Given the description of an element on the screen output the (x, y) to click on. 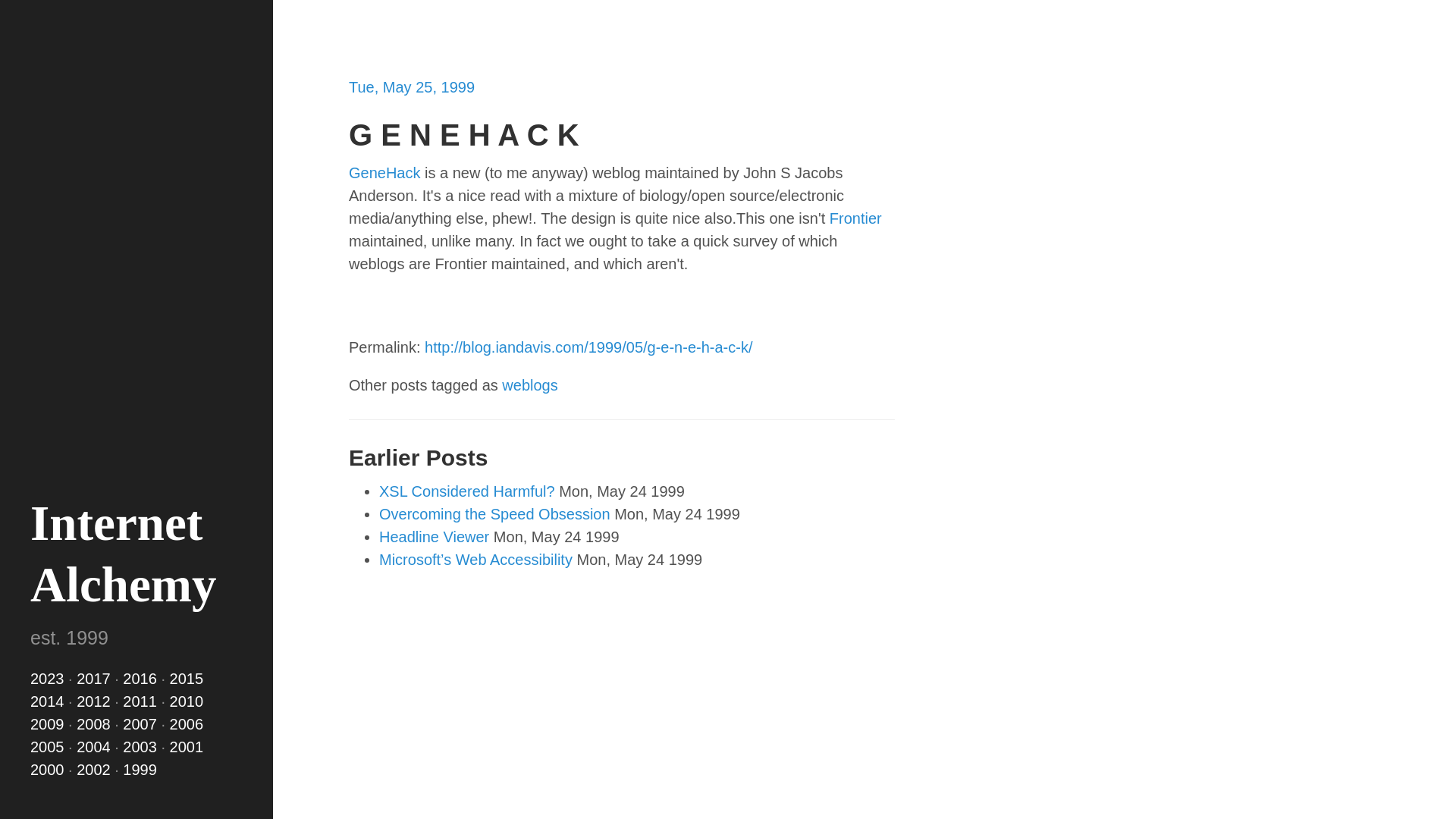
Frontier (855, 217)
Overcoming the Speed Obsession (494, 514)
GeneHack (384, 172)
XSL Considered Harmful? (466, 491)
Internet Alchemy (123, 553)
Tue, May 25, 1999 (411, 86)
Headline Viewer (433, 536)
weblogs (529, 384)
